Given the description of an element on the screen output the (x, y) to click on. 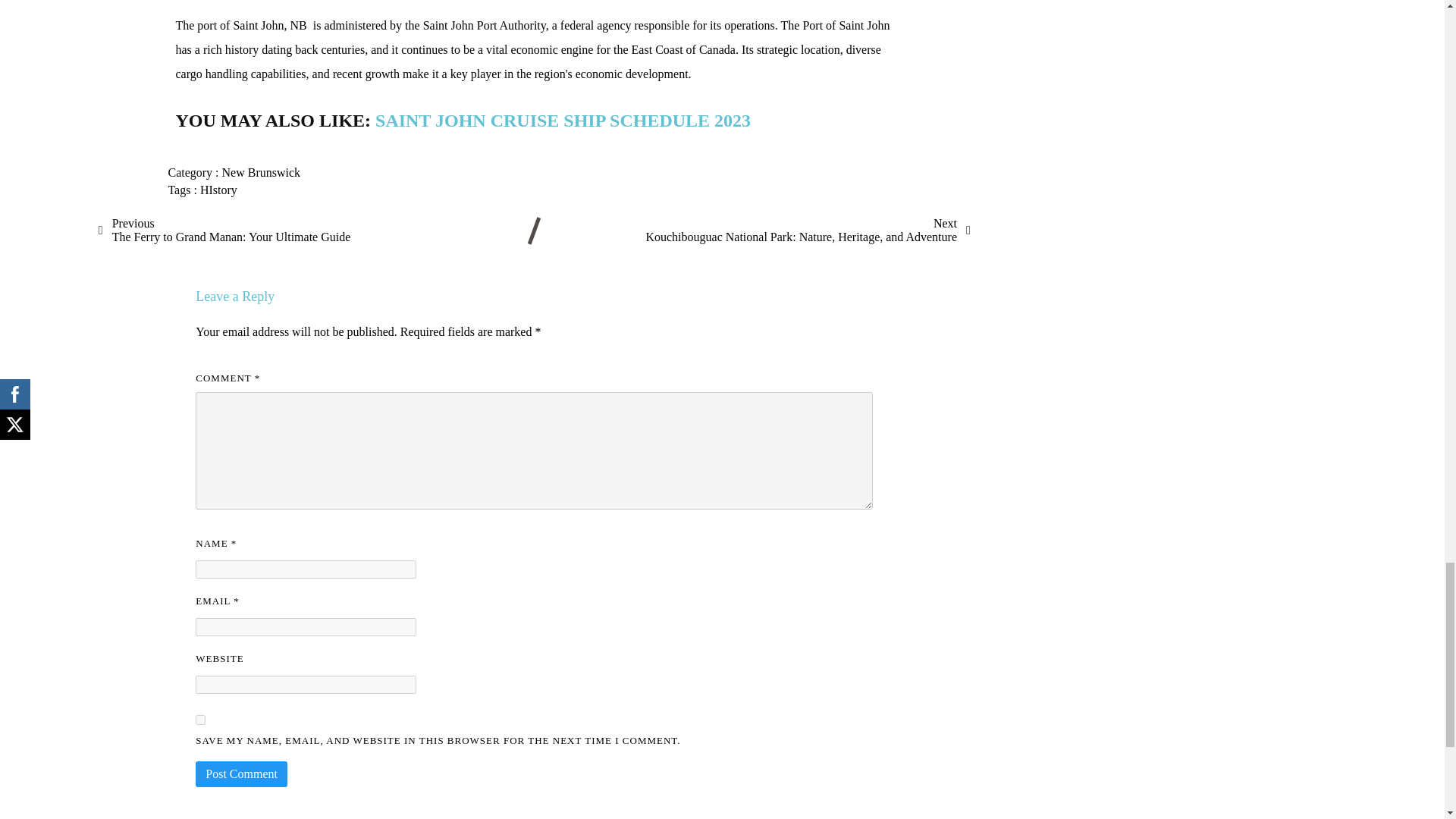
New Brunswick (261, 172)
SAINT JOHN CRUISE SHIP SCHEDULE 2023 (563, 120)
yes (200, 719)
Post Comment (224, 230)
HIstory (240, 774)
Post Comment (218, 189)
